Given the description of an element on the screen output the (x, y) to click on. 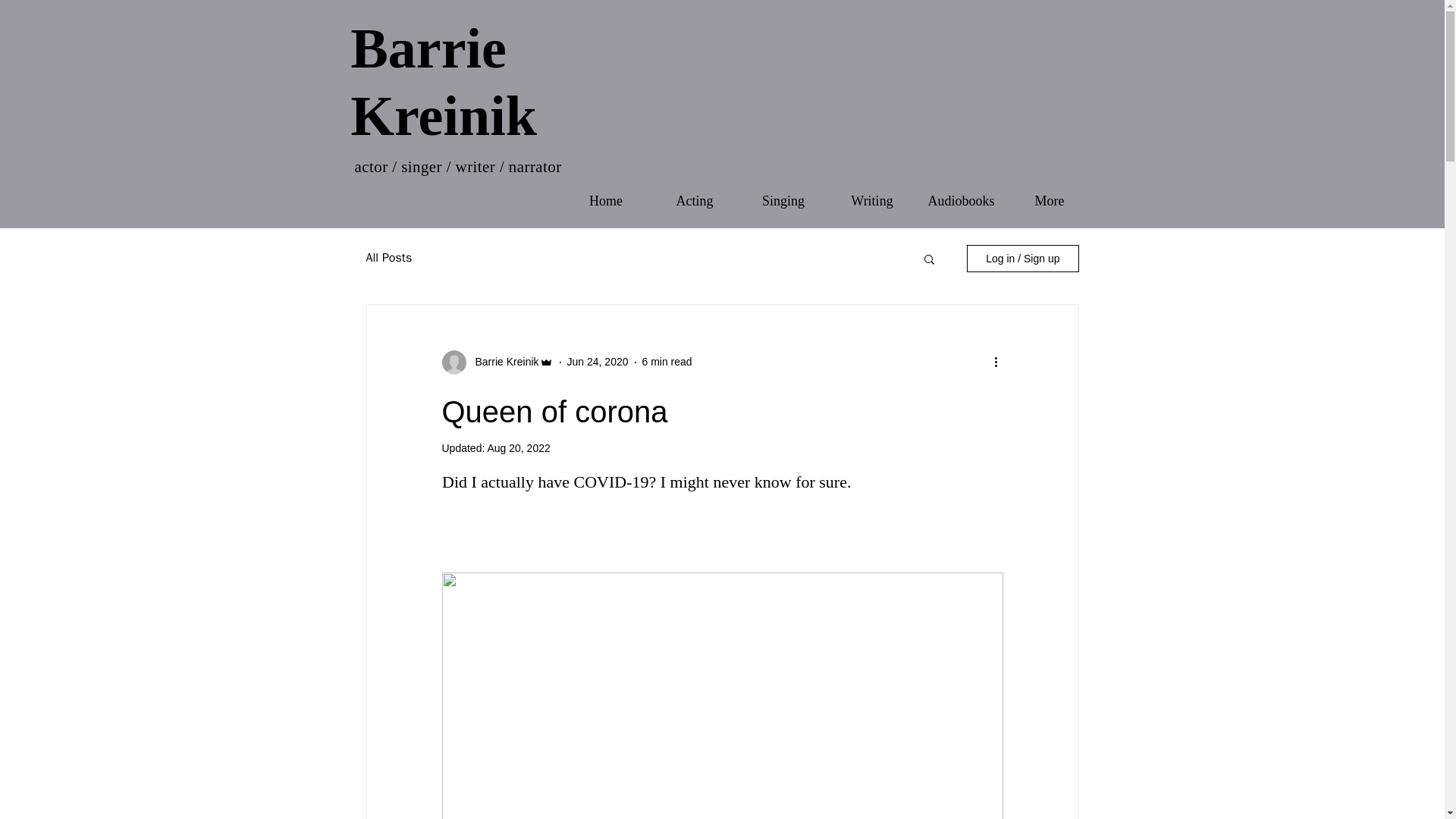
Singing (782, 200)
Barrie Kreinik (501, 361)
Home (604, 200)
Aug 20, 2022 (518, 448)
Barrie Kreinik (442, 82)
Jun 24, 2020 (597, 361)
6 min read (666, 361)
Audiobooks (959, 200)
All Posts (388, 258)
Acting (694, 200)
Writing (872, 200)
